Given the description of an element on the screen output the (x, y) to click on. 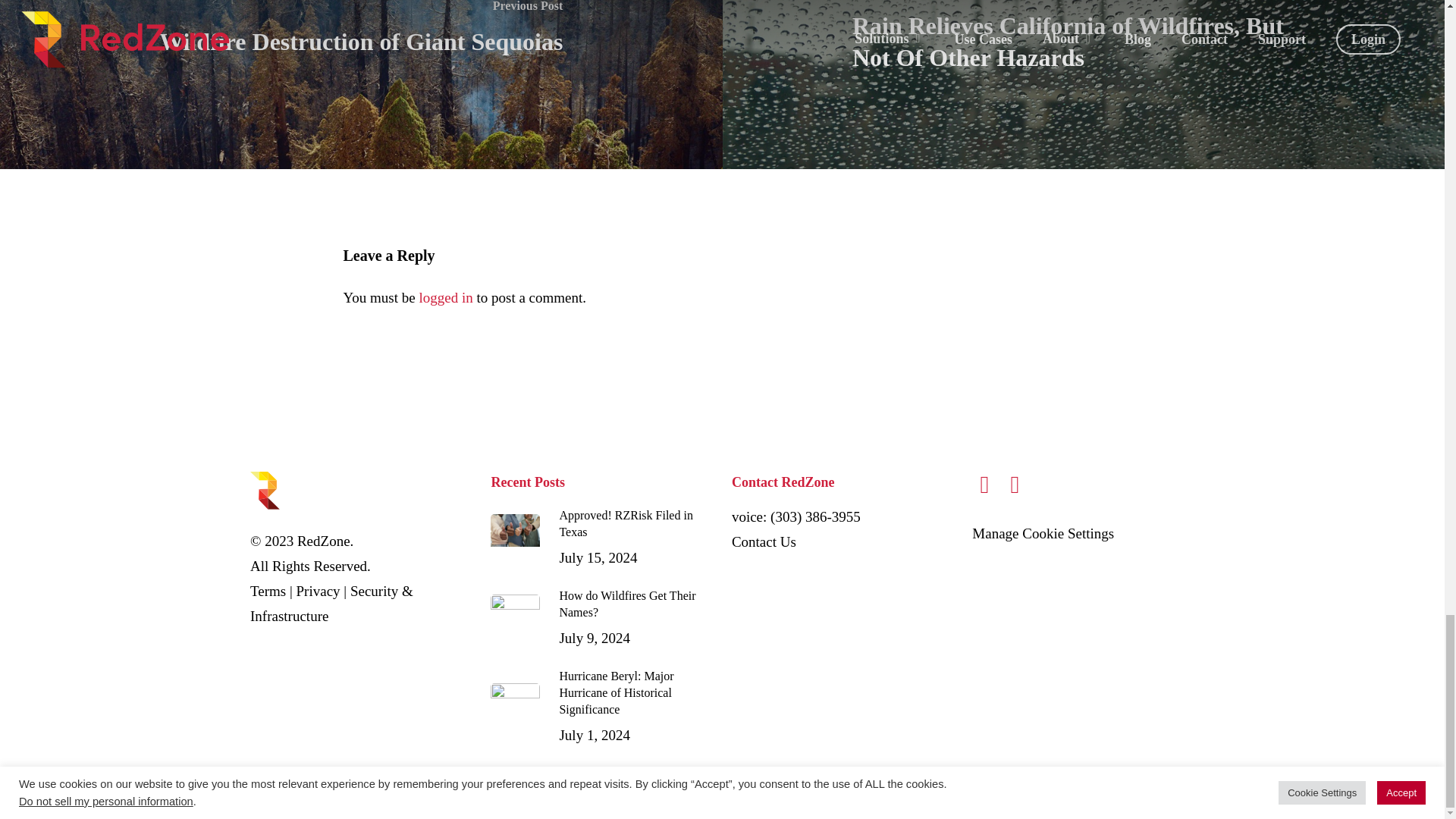
Contact Form (764, 541)
Terms (267, 590)
Contact Us (764, 541)
Privacy (318, 590)
logged in (601, 619)
Manage Cookie Settings (445, 297)
